Given the description of an element on the screen output the (x, y) to click on. 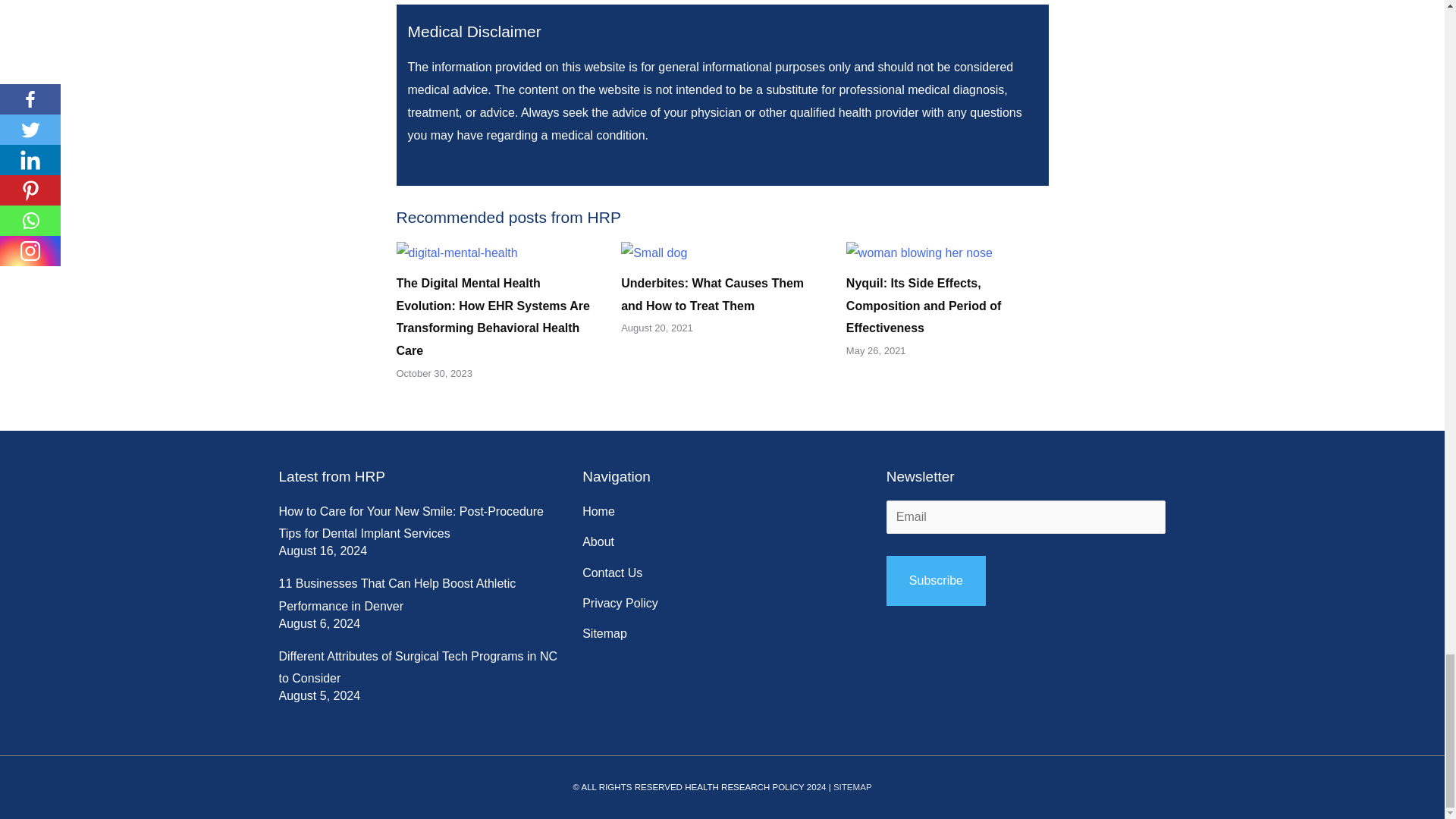
Underbites: What Causes Them and How to Treat Them (712, 294)
Subscribe (935, 581)
